Given the description of an element on the screen output the (x, y) to click on. 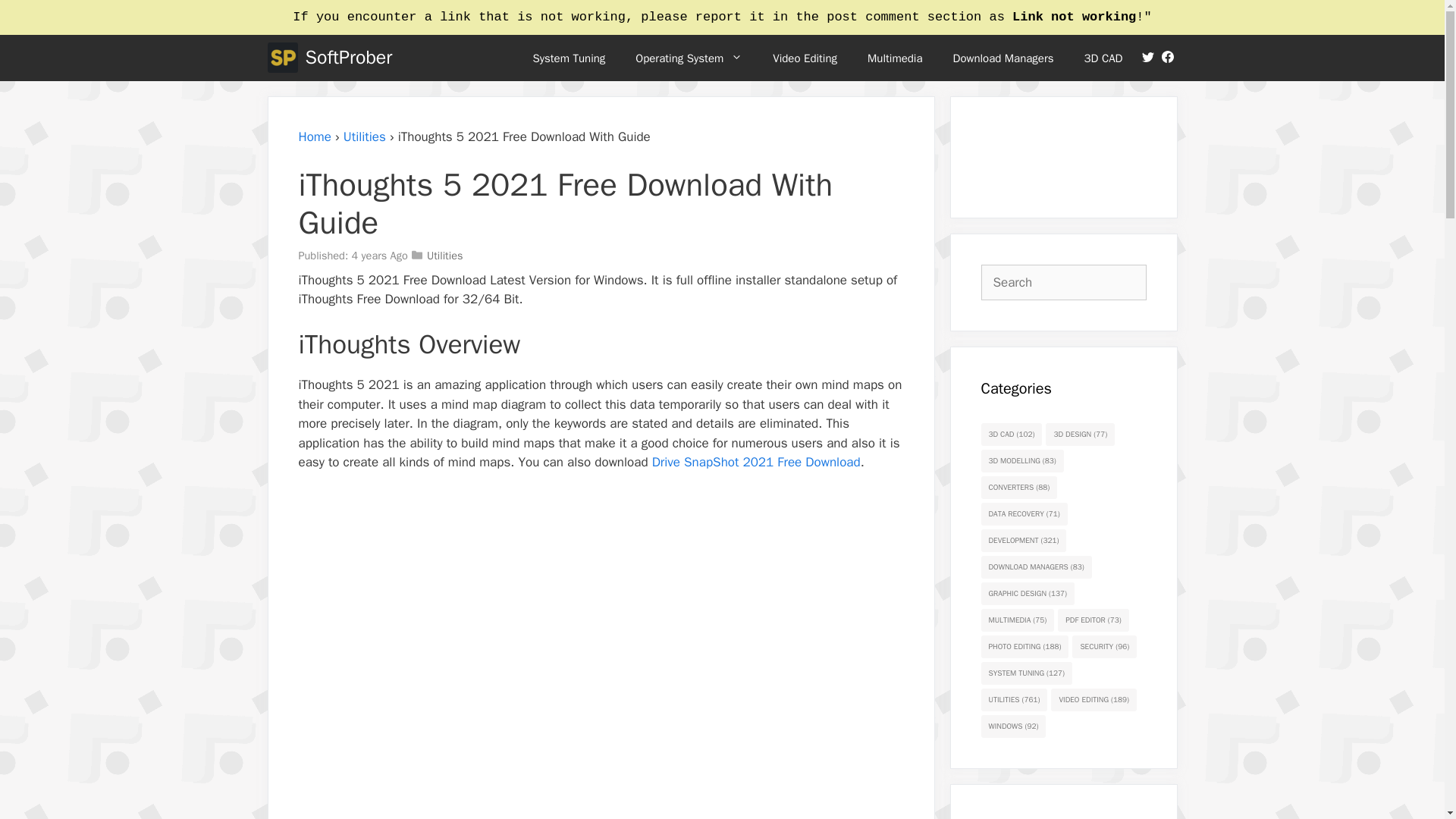
Video Editing (804, 57)
Utilities (444, 255)
Search for: (1064, 282)
Download Managers (1002, 57)
Drive SnapShot 2021 Free Download (756, 462)
Utilities (364, 136)
3D CAD (1103, 57)
Search (32, 16)
SoftProber (347, 57)
Multimedia (894, 57)
System Tuning (568, 57)
Operating System (688, 57)
Home (314, 136)
